Given the description of an element on the screen output the (x, y) to click on. 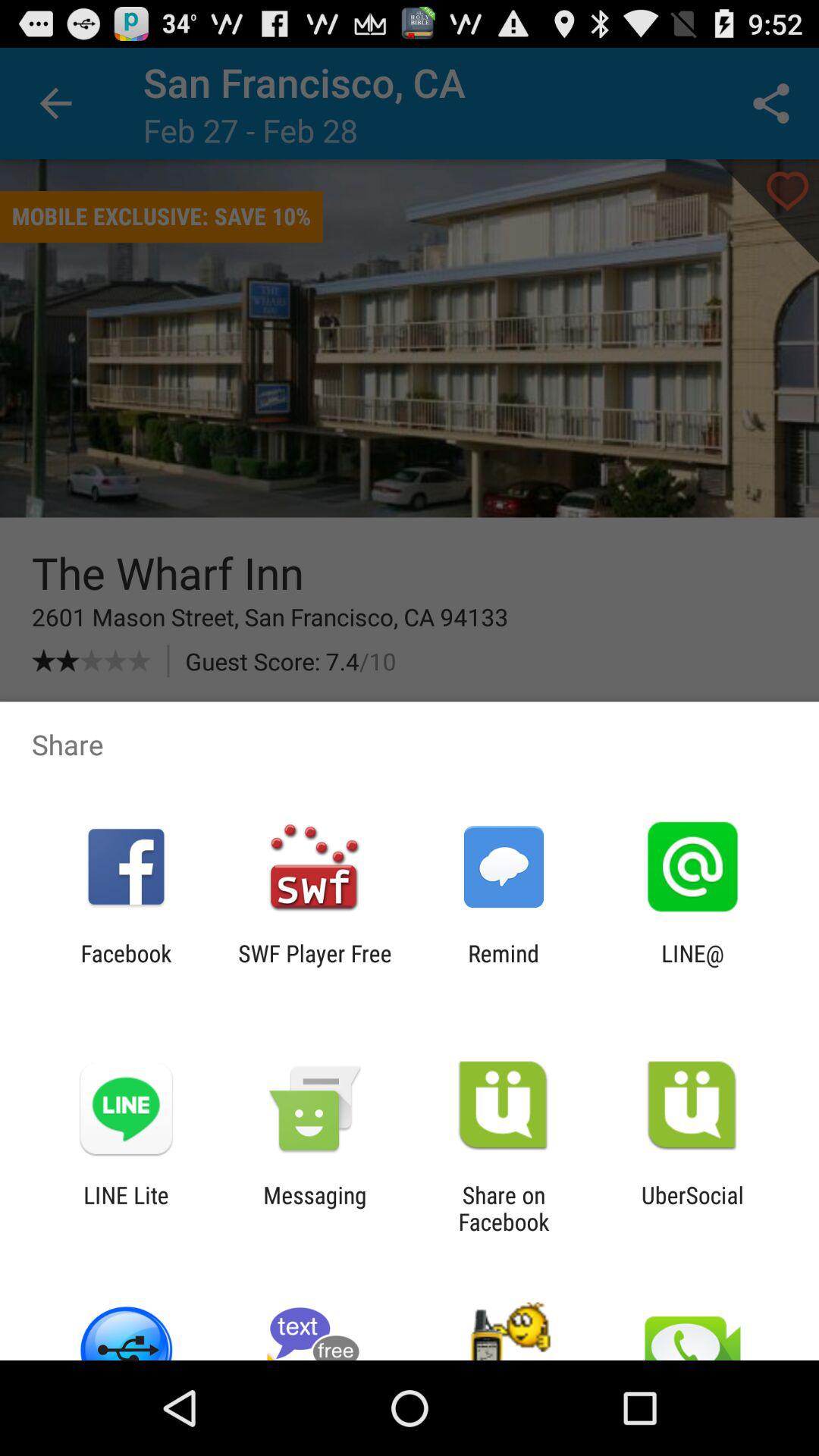
launch the app to the left of the messaging app (125, 1208)
